Given the description of an element on the screen output the (x, y) to click on. 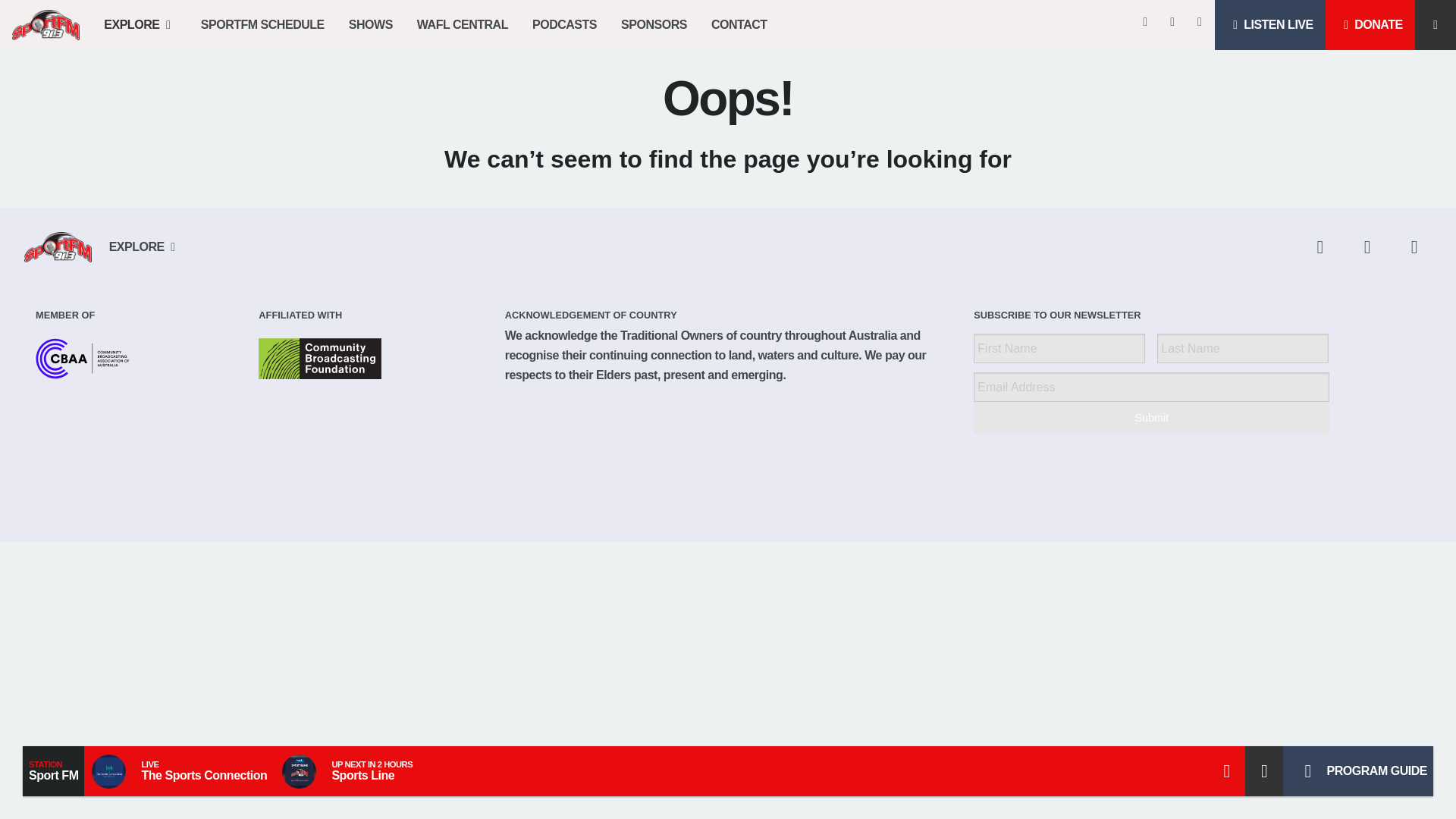
Submit (1151, 417)
LISTEN LIVE (1269, 24)
WAFL CENTRAL (461, 24)
PODCASTS (563, 24)
CONTACT (738, 24)
EXPLORE (139, 24)
SPONSORS (653, 24)
DONATE (1369, 24)
SHOWS (370, 24)
SPORTFM SCHEDULE (262, 24)
